Given the description of an element on the screen output the (x, y) to click on. 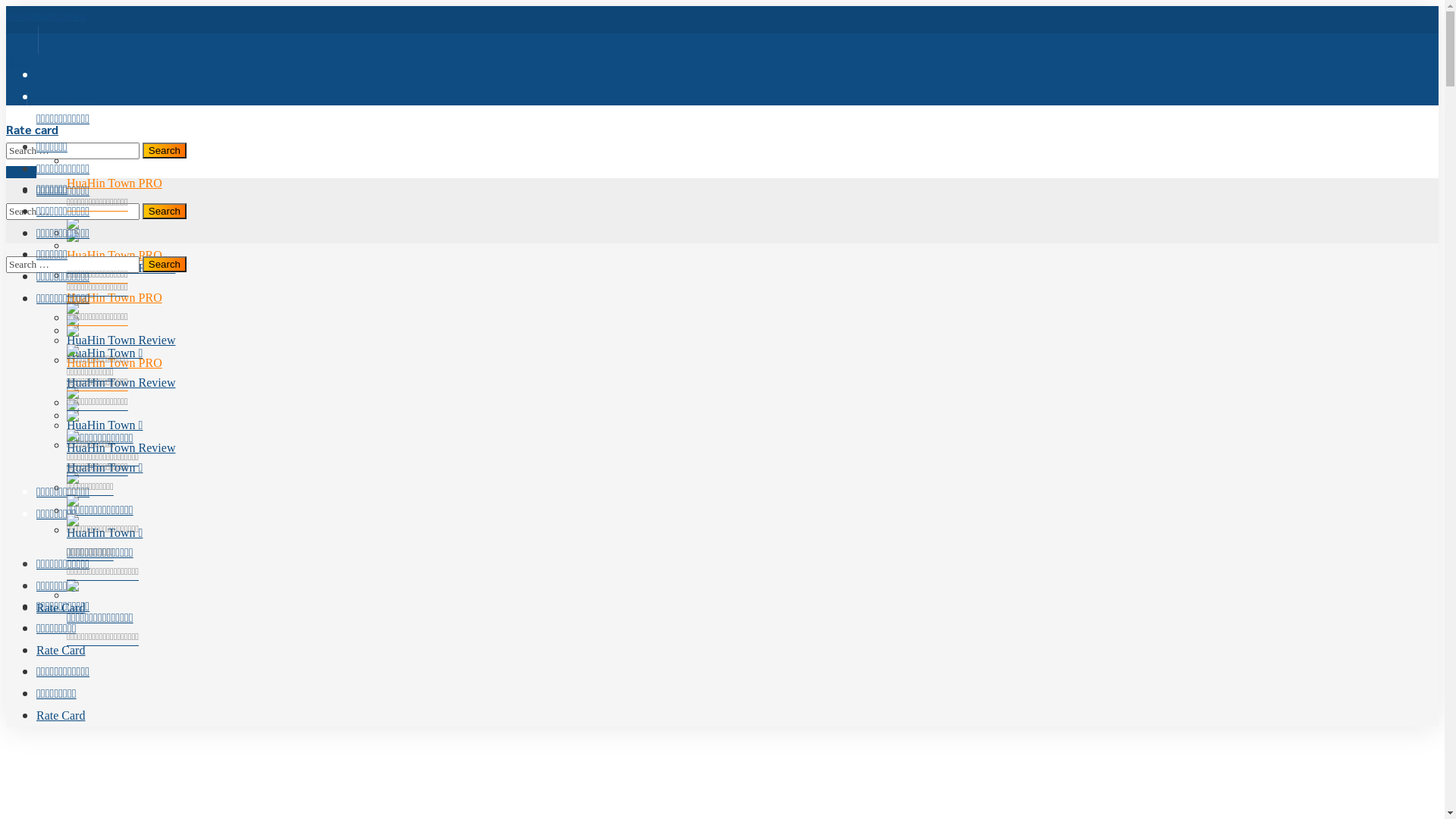
info@huahin.town Element type: text (45, 15)
Rate Card Element type: text (60, 607)
Search Element type: text (164, 211)
Rate Card Element type: text (60, 649)
Rate card Element type: text (32, 130)
082-829-9909 Element type: text (35, 63)
Search Element type: text (164, 150)
Rate Card Element type: text (60, 715)
Search Element type: text (164, 264)
